Given the description of an element on the screen output the (x, y) to click on. 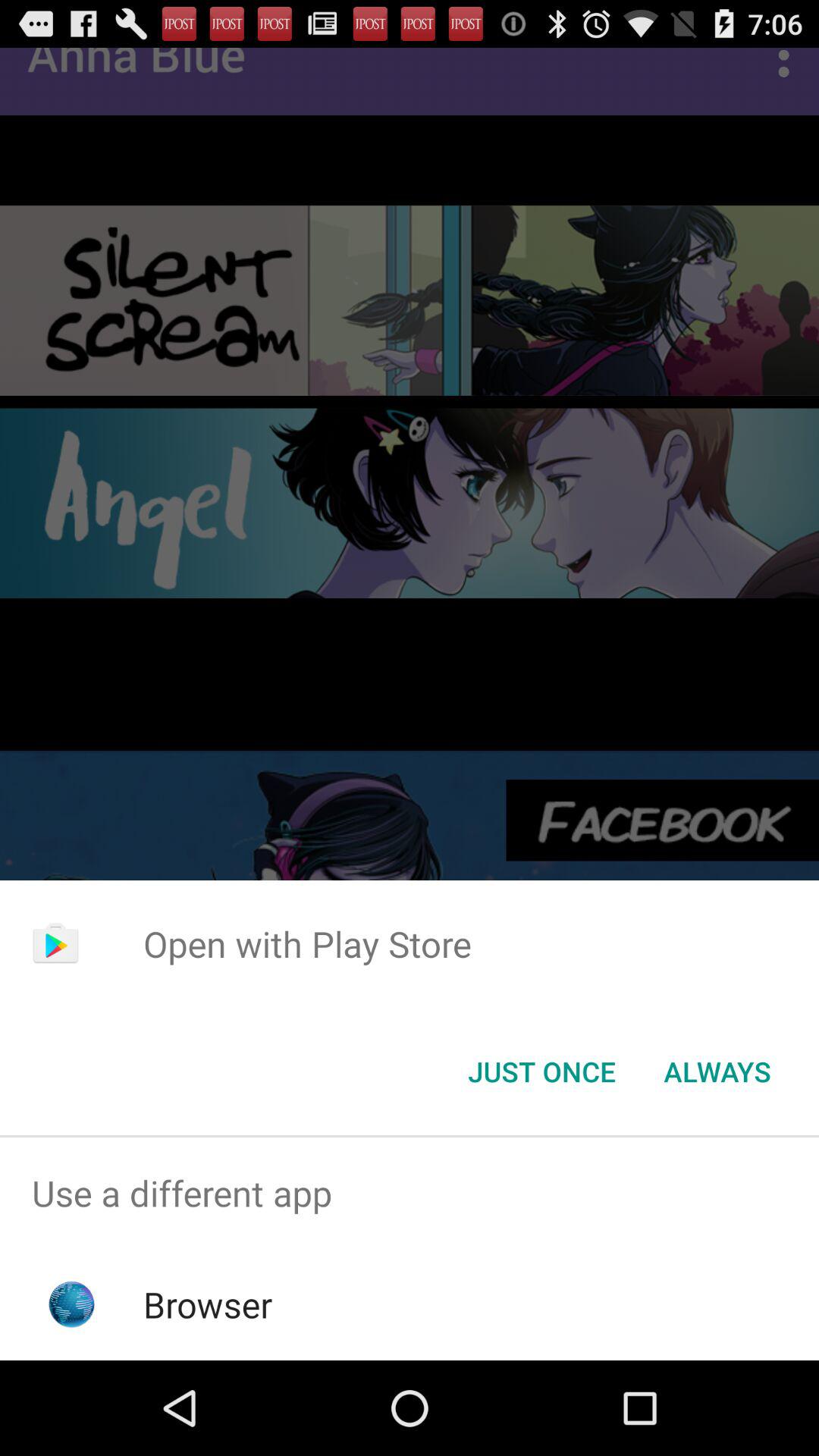
open the use a different item (409, 1192)
